Given the description of an element on the screen output the (x, y) to click on. 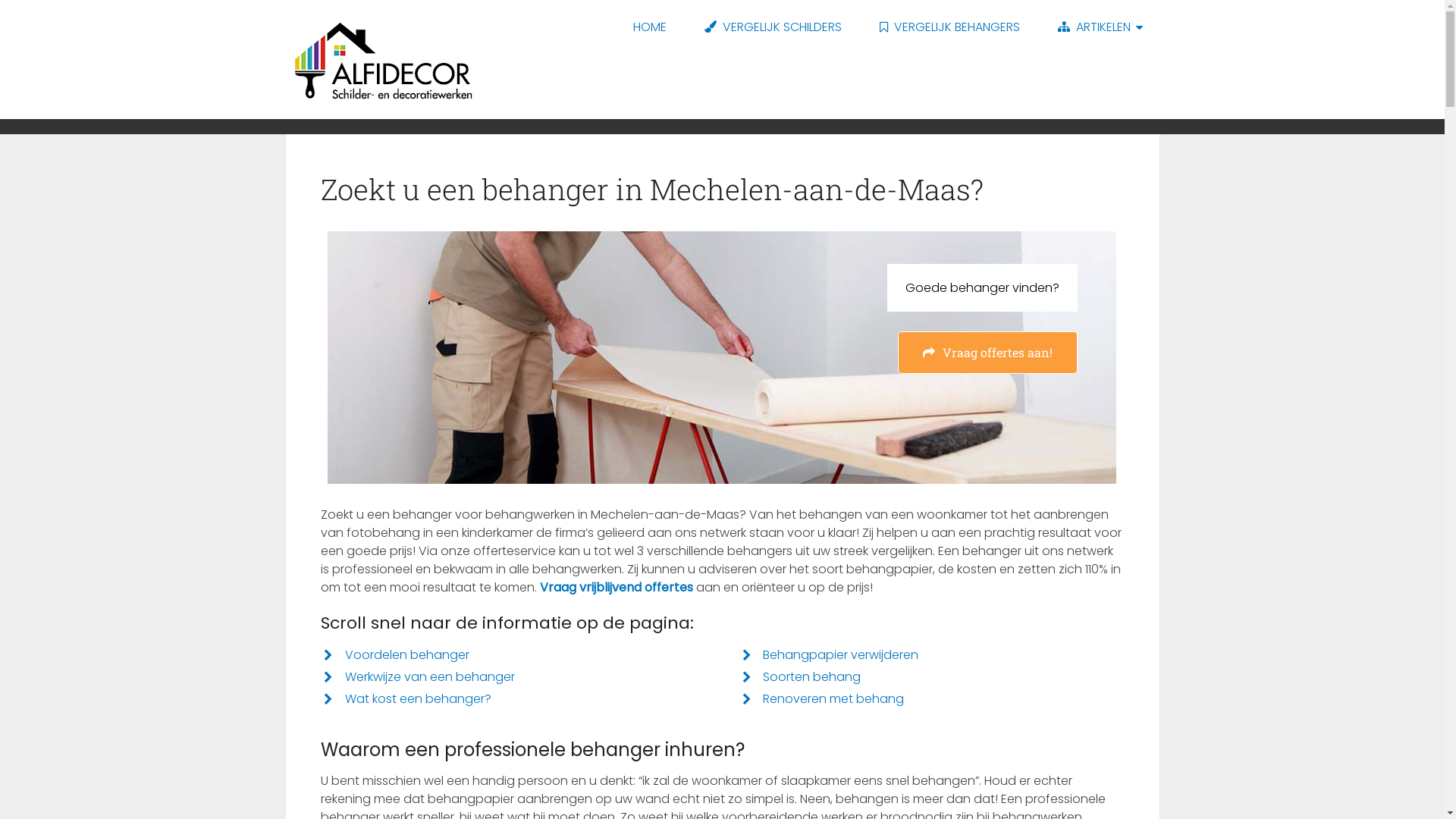
Werkwijze van een behanger Element type: text (429, 676)
Behangpapier verwijderen Element type: text (840, 654)
Renoveren met behang Element type: text (832, 698)
HOME Element type: text (649, 27)
VERGELIJK SCHILDERS Element type: text (772, 27)
Vraag vrijblijvend offertes Element type: text (616, 587)
ARTIKELEN Element type: text (1098, 27)
Wat kost een behanger? Element type: text (418, 698)
Vraag offertes aan! Element type: text (987, 352)
Voordelen behanger Element type: text (407, 654)
VERGELIJK BEHANGERS Element type: text (948, 27)
Soorten behang Element type: text (811, 676)
